Given the description of an element on the screen output the (x, y) to click on. 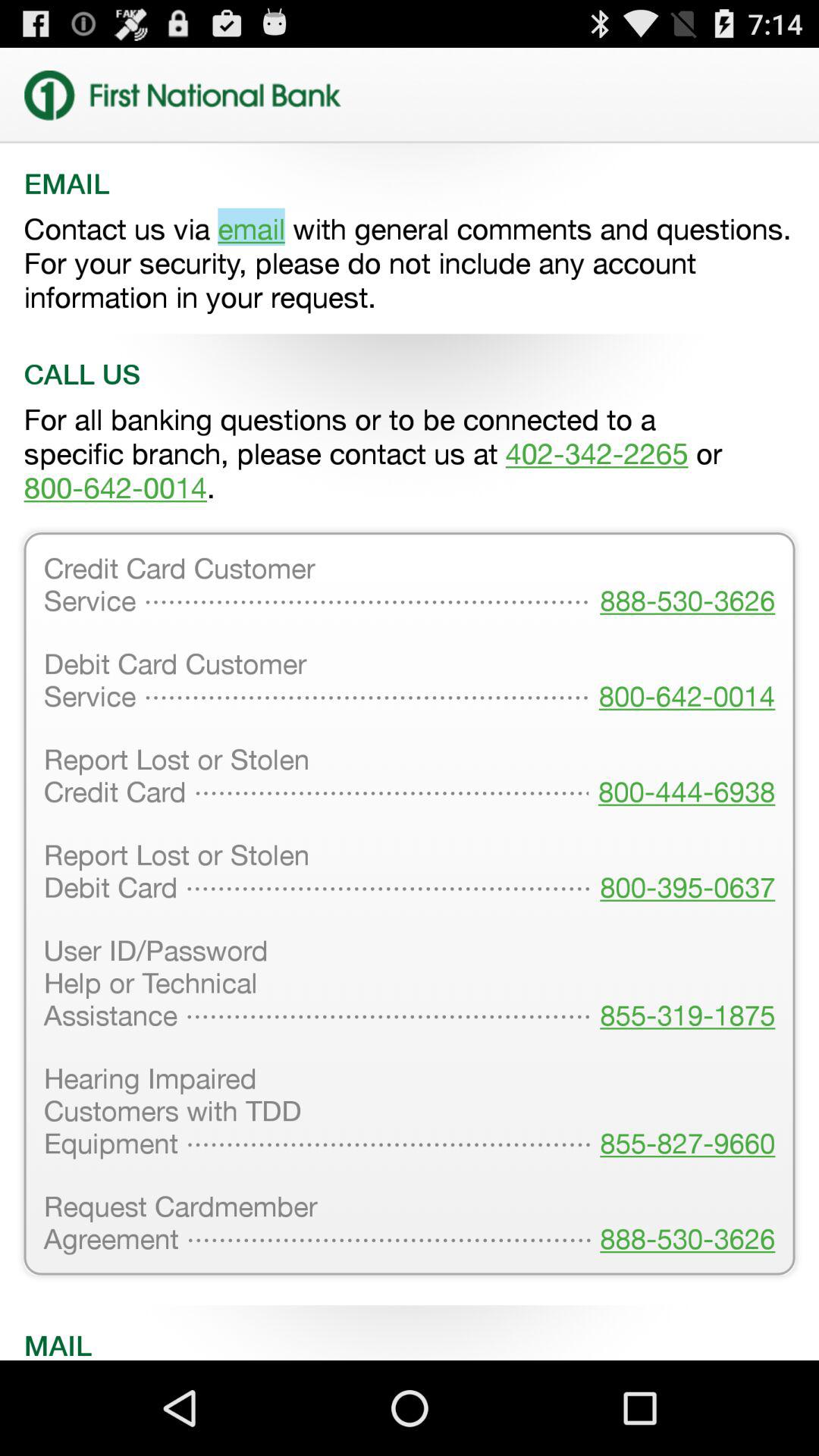
click the item below user id password item (682, 1112)
